Given the description of an element on the screen output the (x, y) to click on. 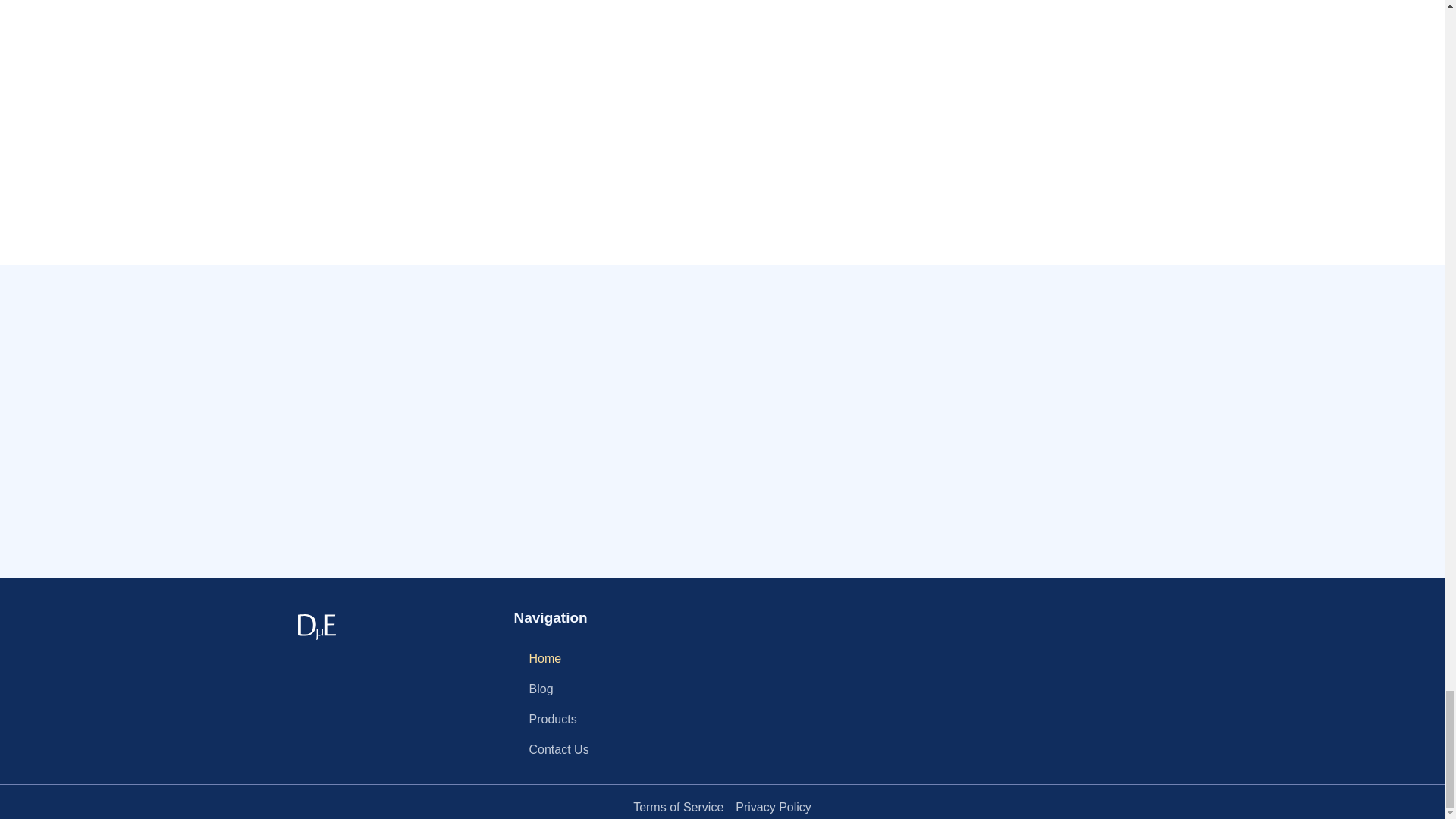
Products (613, 719)
Blog (613, 689)
Home (613, 658)
Contact Us (613, 749)
